Given the description of an element on the screen output the (x, y) to click on. 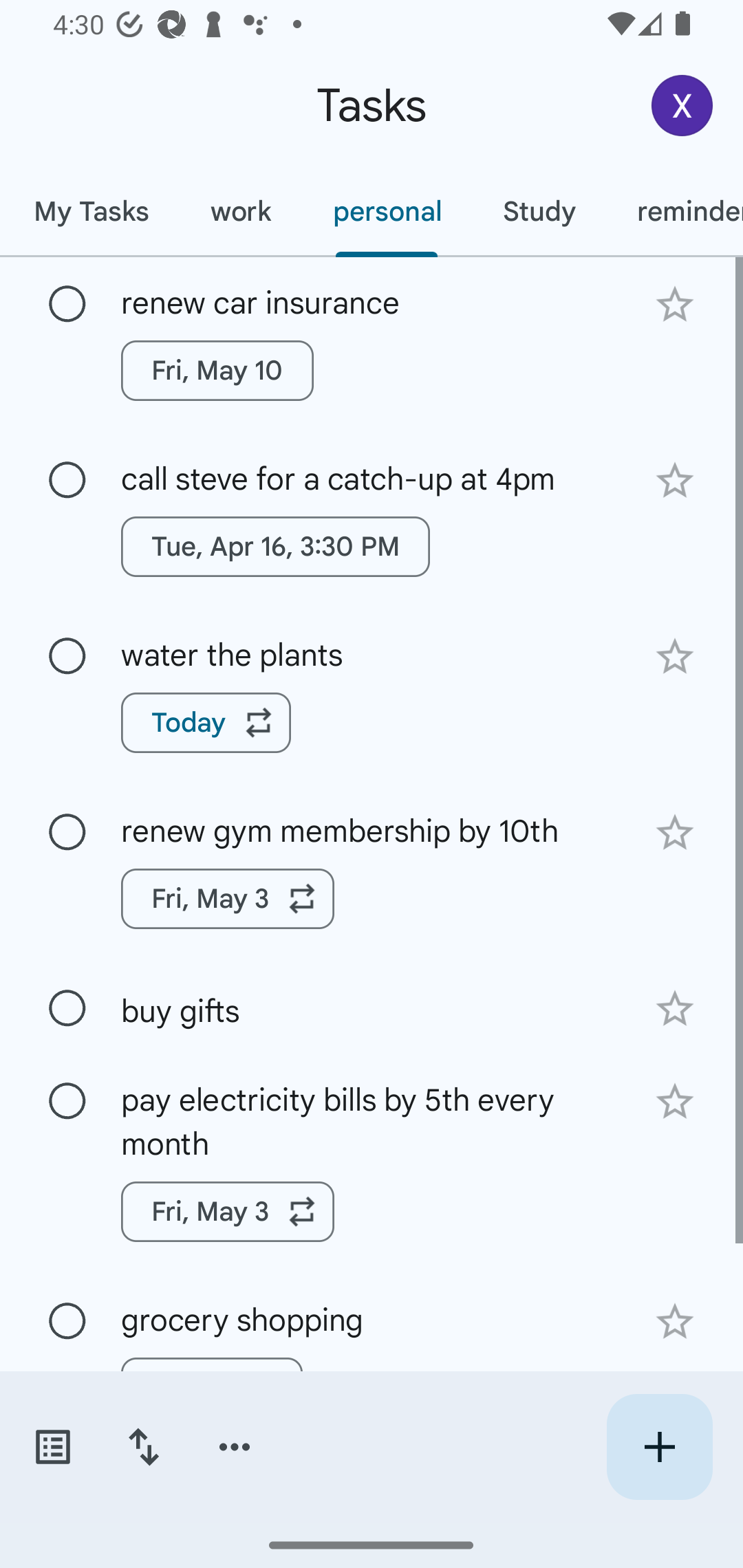
My Tasks (90, 211)
work (240, 211)
Study (538, 211)
reminders (674, 211)
Add star (674, 303)
Mark as complete (67, 304)
Fri, May 10 (217, 369)
Add star (674, 480)
Mark as complete (67, 480)
Tue, Apr 16, 3:30 PM (275, 546)
Add star (674, 656)
Mark as complete (67, 655)
Today (206, 722)
Add star (674, 832)
Mark as complete (67, 833)
Fri, May 3 (227, 897)
buy gifts buy gifts Add star Mark as complete (371, 1007)
Add star (674, 1007)
Mark as complete (67, 1008)
Add star (674, 1101)
Mark as complete (67, 1101)
Fri, May 3 (227, 1211)
Add star (674, 1321)
Mark as complete (67, 1321)
Switch task lists (52, 1447)
Create new task (659, 1446)
Change sort order (143, 1446)
More options (234, 1446)
